Given the description of an element on the screen output the (x, y) to click on. 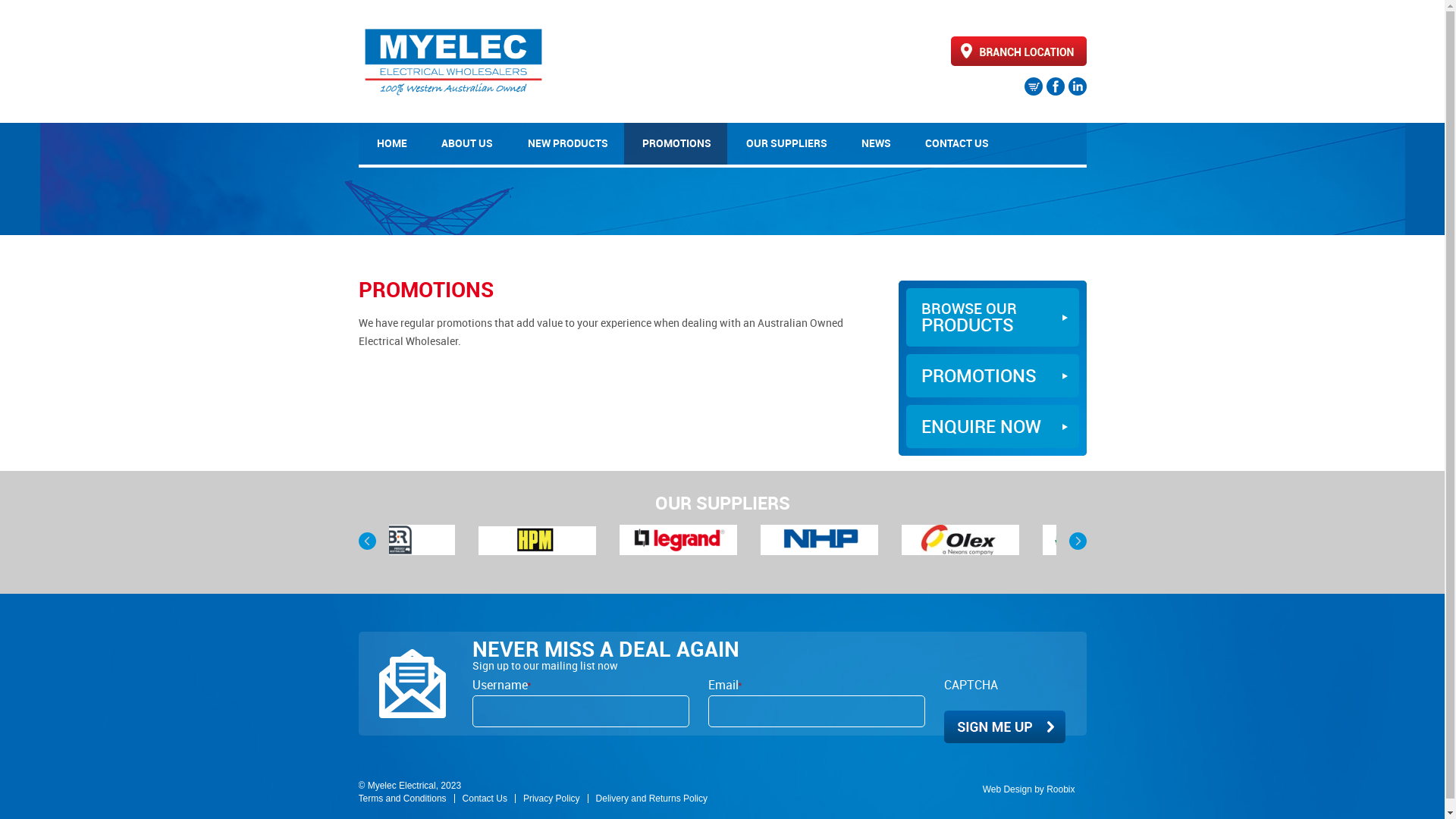
NEWS Element type: text (874, 143)
Terms and Conditions Element type: text (401, 798)
Privacy Policy Element type: text (551, 798)
PROMOTIONS Element type: text (991, 375)
OUR SUPPLIERS Element type: text (784, 143)
HOME Element type: text (389, 143)
ENQUIRE NOW Element type: text (991, 426)
PROMOTIONS Element type: text (675, 143)
Submit Element type: text (1003, 726)
BROWSE OUR
PRODUCTS Element type: text (991, 317)
Promotions Element type: hover (436, 539)
Promotions Element type: hover (998, 539)
Myelec Electrical Element type: hover (452, 97)
Promotions Element type: hover (718, 539)
NEW PRODUCTS Element type: text (565, 143)
Contact Us Element type: text (484, 798)
Promotions Element type: hover (859, 539)
ABOUT US Element type: text (465, 143)
Promotions Element type: hover (575, 539)
Delivery and Returns Policy Element type: text (651, 798)
CONTACT US Element type: text (955, 143)
